Given the description of an element on the screen output the (x, y) to click on. 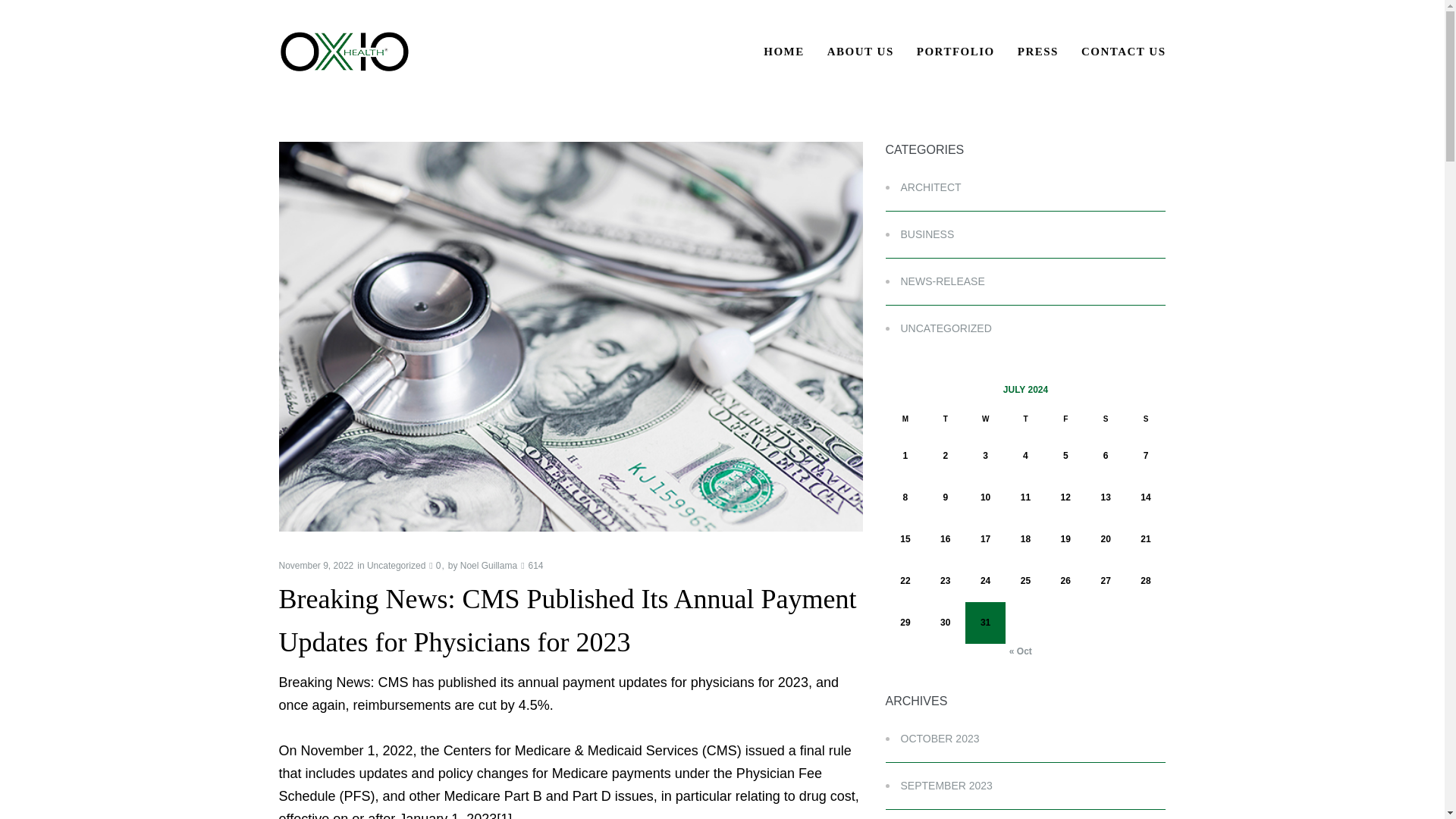
ARCHITECT (922, 186)
Uncategorized (395, 565)
Saturday (1105, 419)
ABOUT US (860, 51)
PRESS (1038, 51)
BUSINESS (920, 234)
0 (435, 565)
November 9, 2022 (316, 565)
Thursday (1025, 419)
Noel Guillama (488, 565)
OCTOBER 2023 (932, 738)
Tuesday (944, 419)
Friday (1065, 419)
HOME (783, 51)
Sunday (1145, 419)
